Given the description of an element on the screen output the (x, y) to click on. 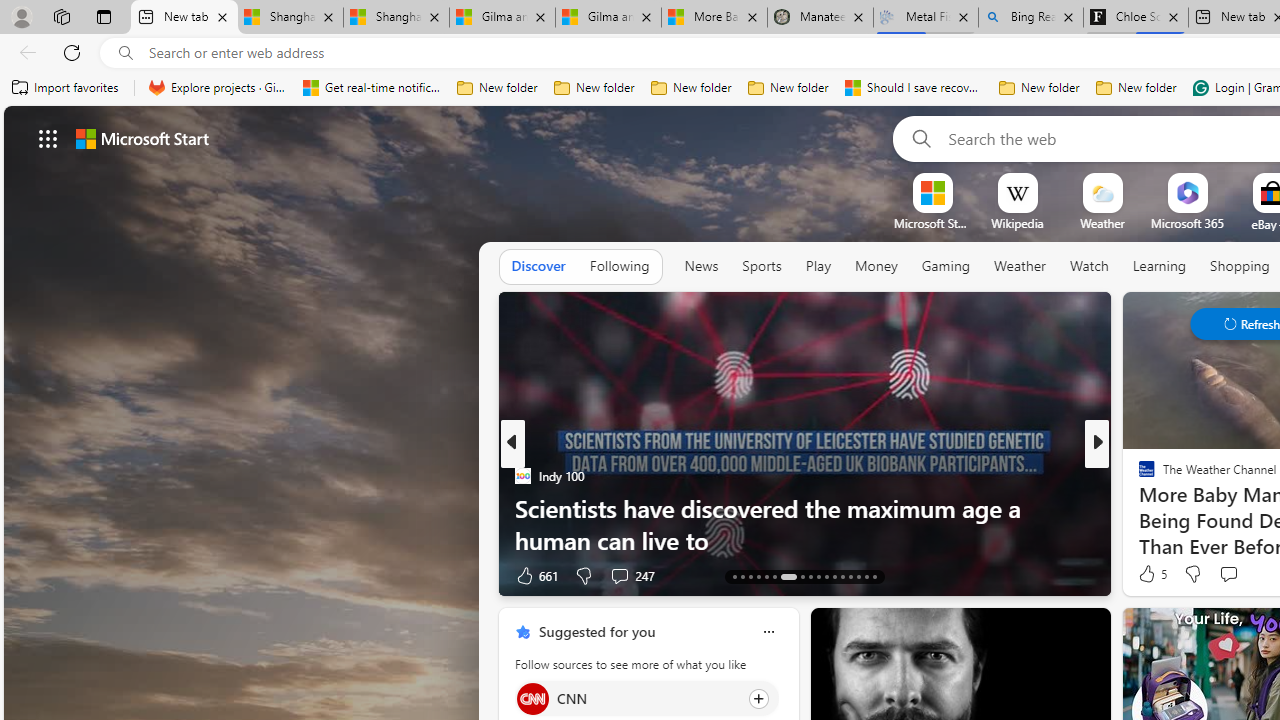
Play (817, 265)
Forge of Empires (1175, 507)
Microsoft start (142, 138)
View comments 5 Comment (1241, 574)
Learning (1159, 267)
Yumophile (1138, 507)
AutomationID: tab-17 (765, 576)
661 Like (535, 574)
View comments 42 Comment (11, 575)
AutomationID: tab-41 (865, 576)
AutomationID: tab-23 (825, 576)
